Given the description of an element on the screen output the (x, y) to click on. 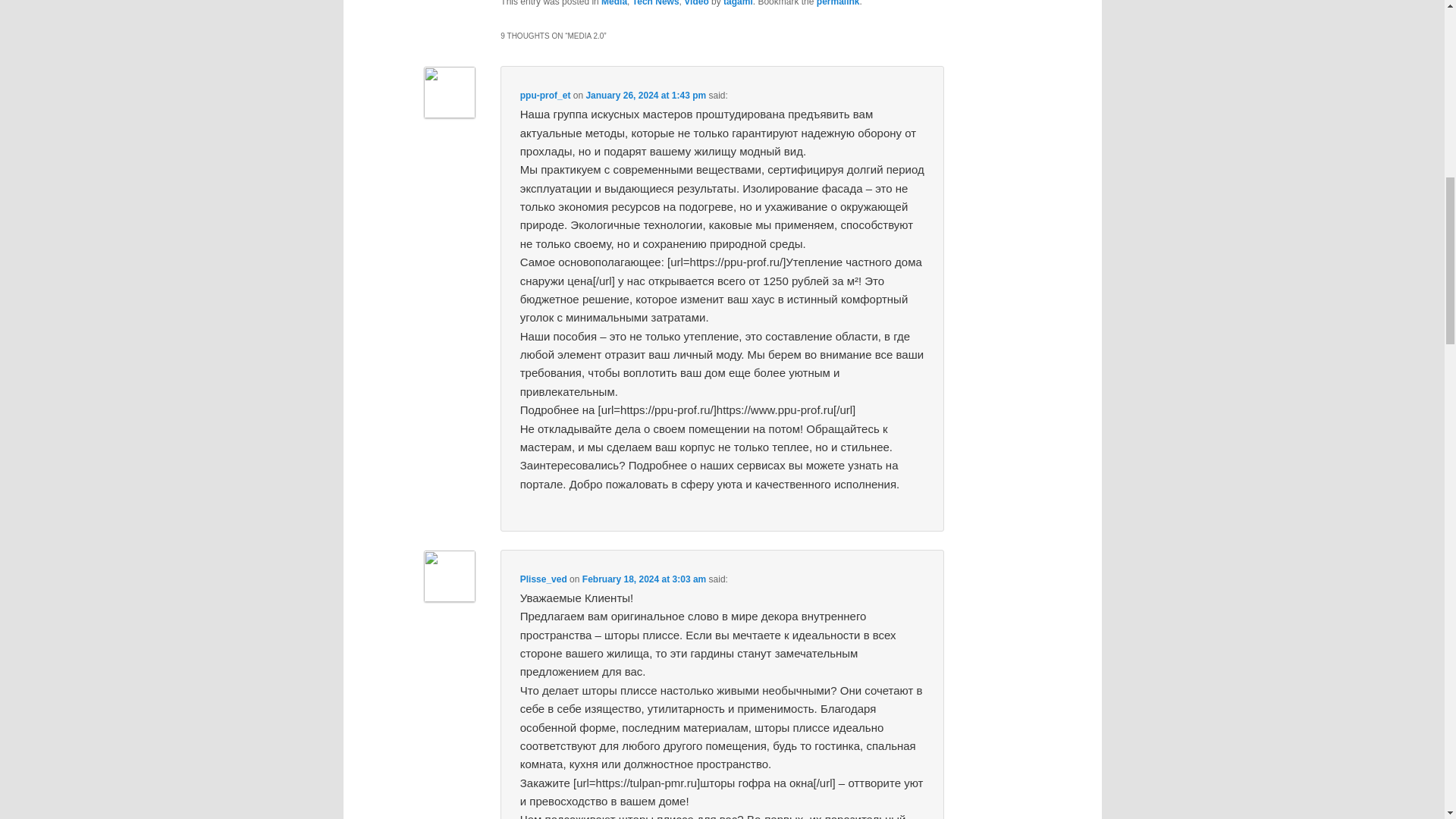
January 26, 2024 at 1:43 pm (645, 95)
Permalink to Media 2.0 (838, 3)
Video (695, 3)
Tech News (655, 3)
tagami (737, 3)
View all posts in Tech News (655, 3)
View all posts in Media (614, 3)
permalink (838, 3)
Media (614, 3)
February 18, 2024 at 3:03 am (644, 579)
